Given the description of an element on the screen output the (x, y) to click on. 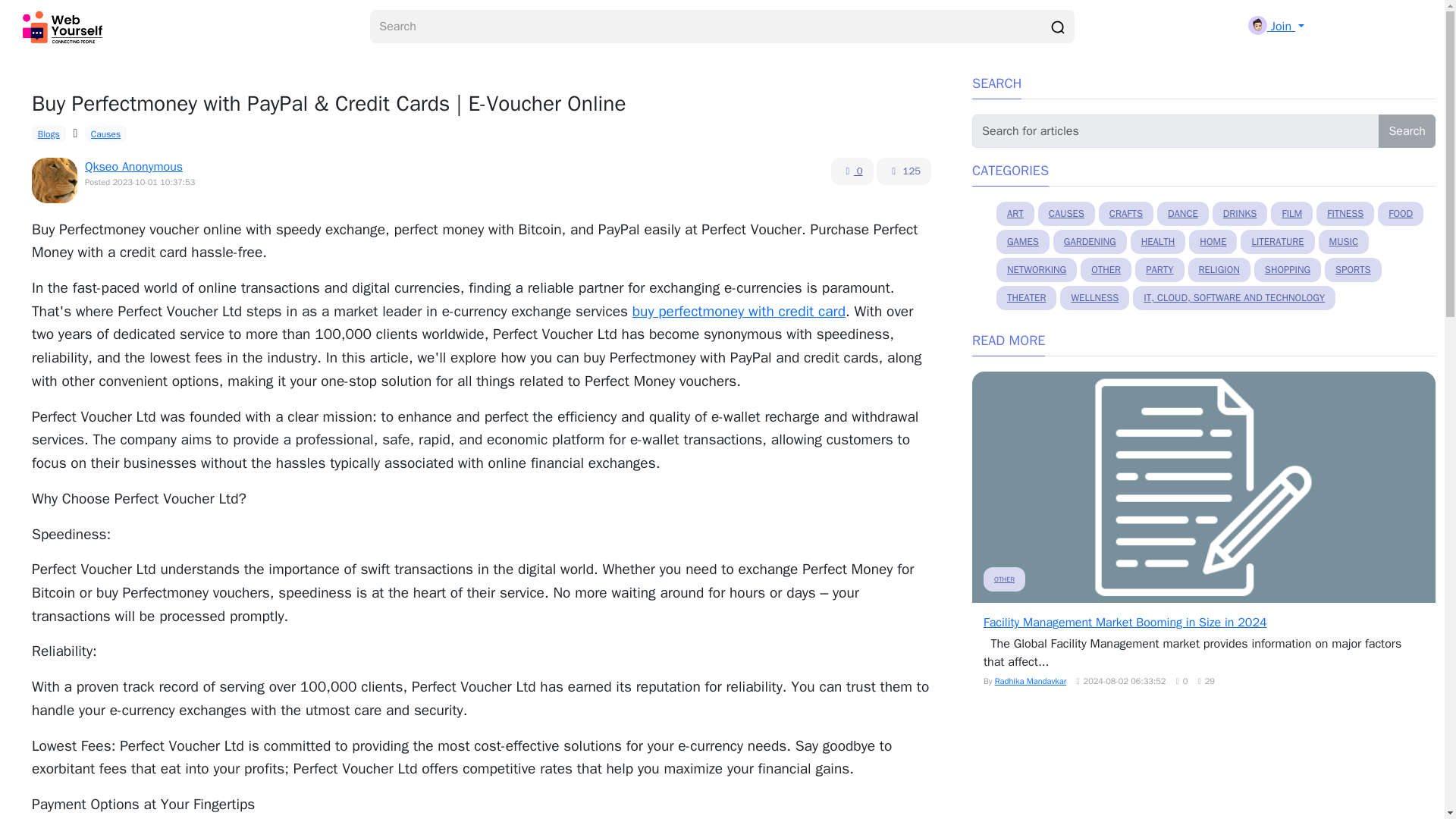
FITNESS (1345, 213)
Qkseo Anonymous (133, 166)
HOME (1212, 241)
Webyourself Social Media Platform (65, 27)
0 (852, 171)
Causes (105, 133)
GARDENING (1089, 241)
LITERATURE (1277, 241)
CRAFTS (1126, 213)
DANCE (1182, 213)
HEALTH (1158, 241)
ART (1014, 213)
Search (1406, 131)
FILM (1292, 213)
buy perfectmoney with credit card (738, 311)
